Given the description of an element on the screen output the (x, y) to click on. 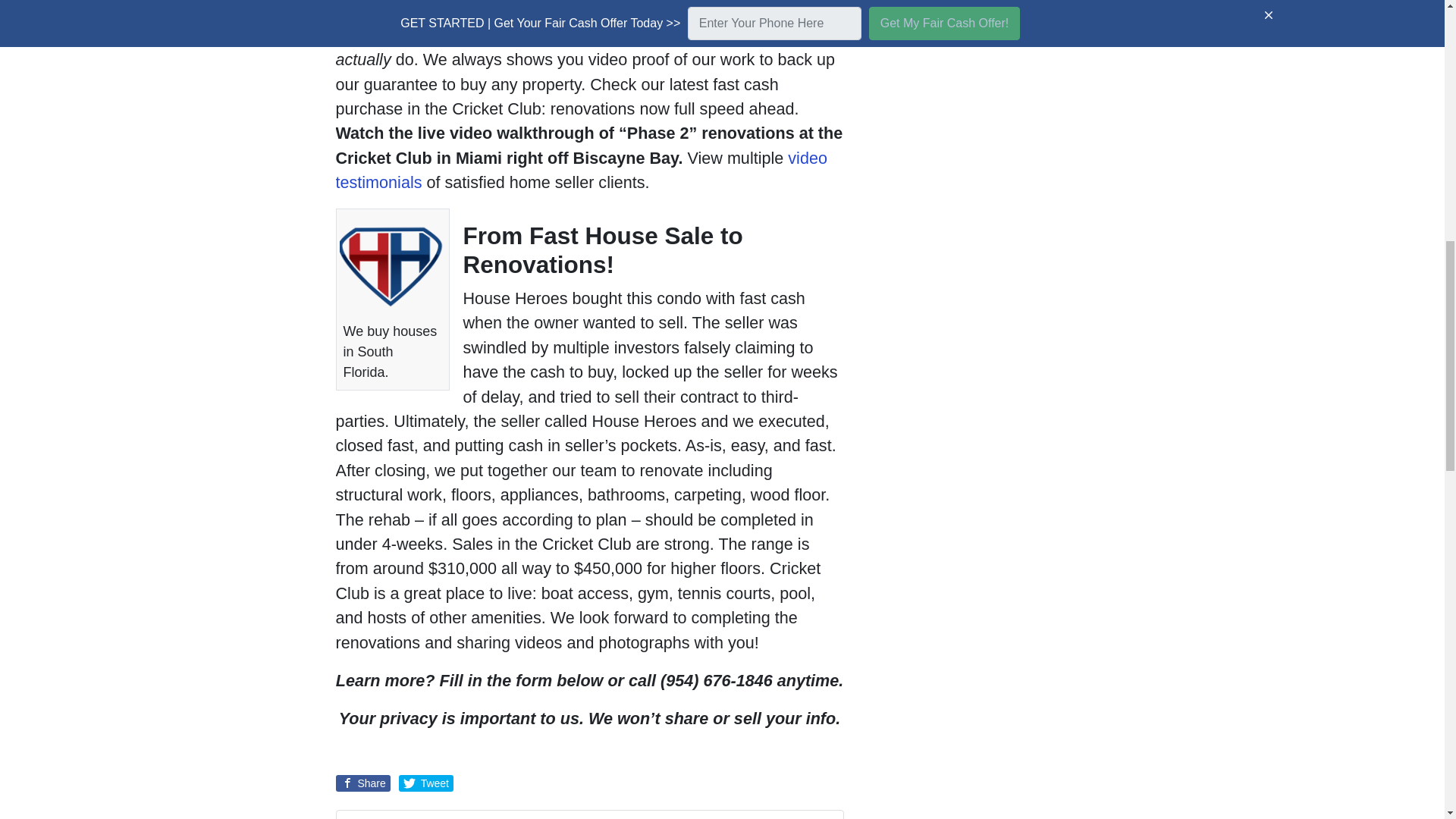
Share on Facebook (362, 782)
video testimonials (580, 169)
Tweet (425, 782)
Share on Twitter (425, 782)
Share (362, 782)
